Given the description of an element on the screen output the (x, y) to click on. 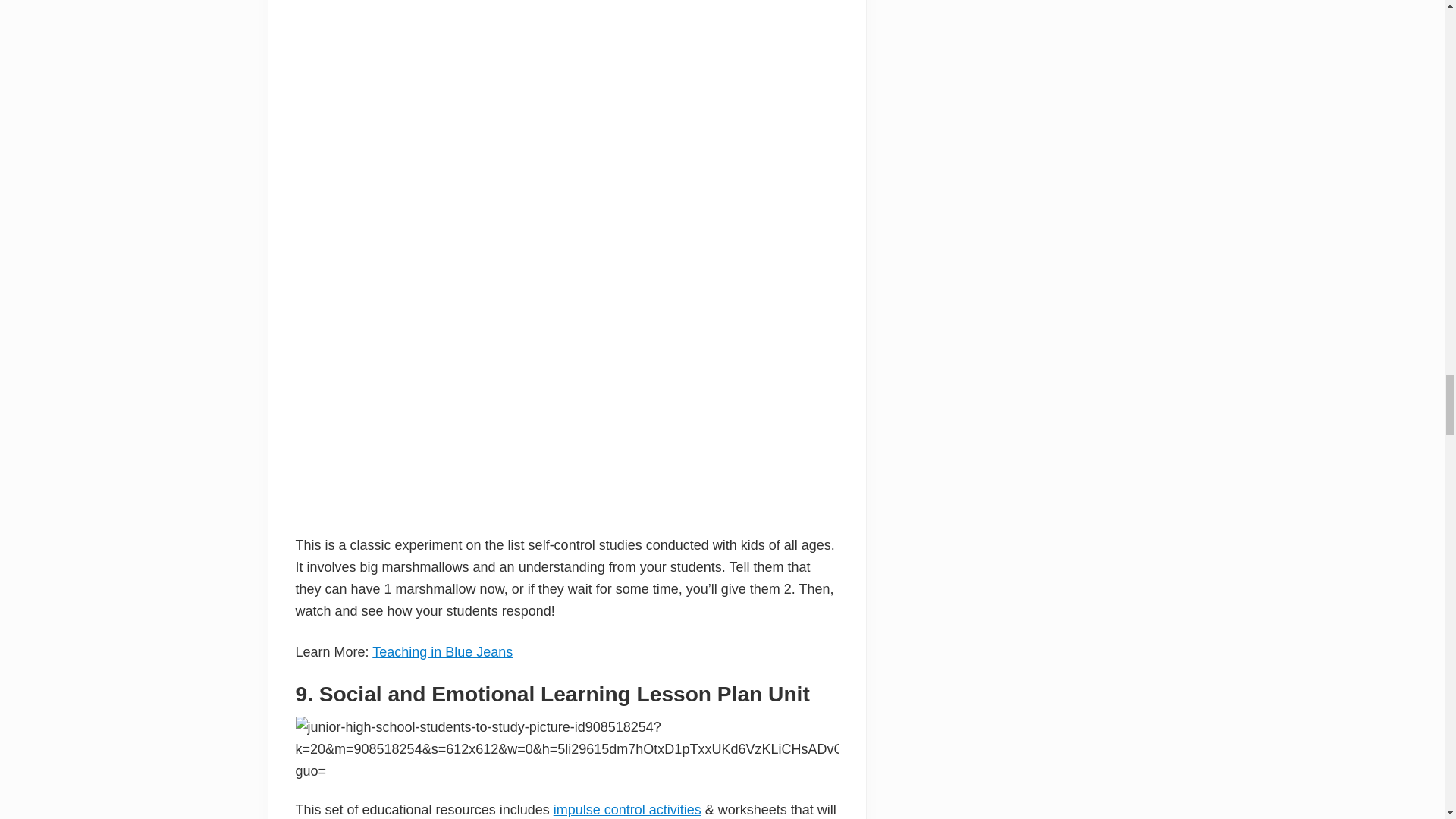
Teaching in Blue Jeans (442, 652)
impulse control activities (627, 809)
